Given the description of an element on the screen output the (x, y) to click on. 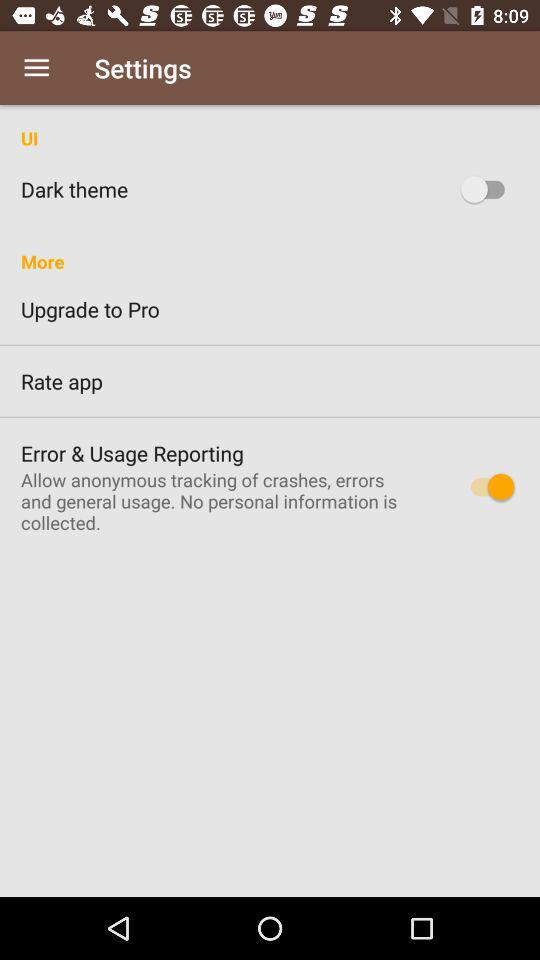
toggle dark theme (487, 189)
